Given the description of an element on the screen output the (x, y) to click on. 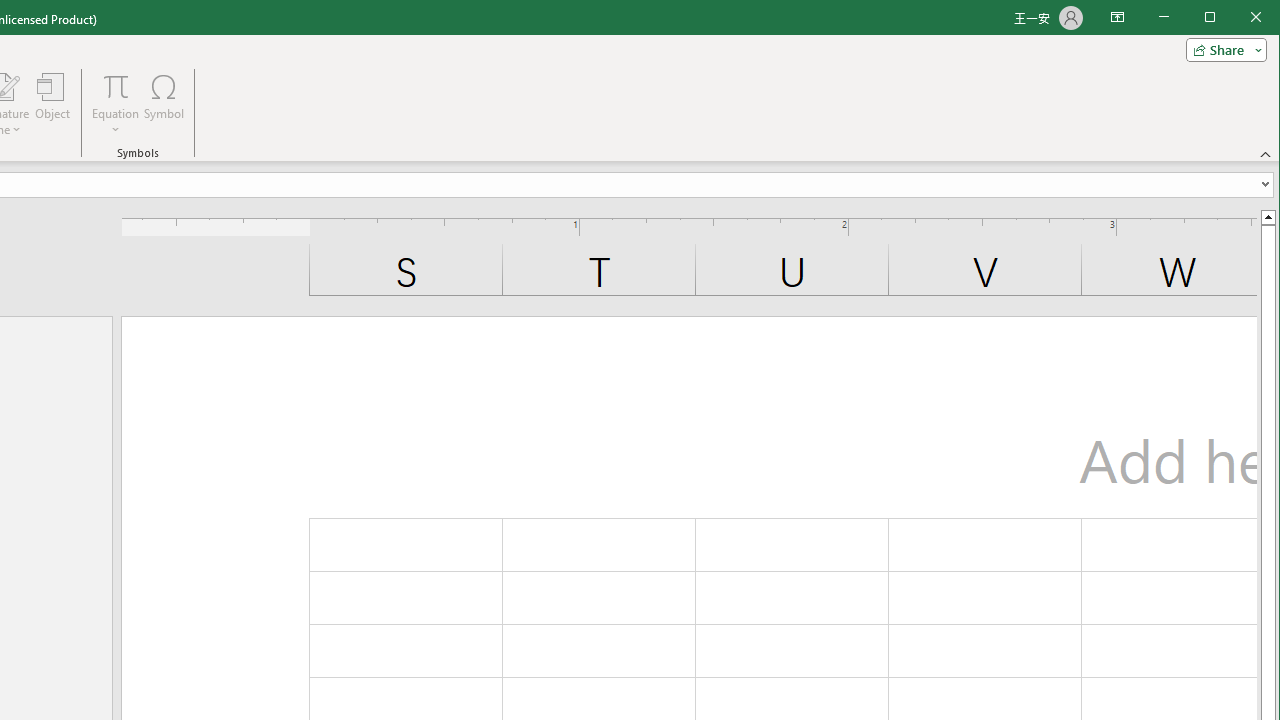
Collapse the Ribbon (1266, 154)
Maximize (1238, 18)
More Options (115, 123)
Ribbon Display Options (1117, 17)
Equation (115, 86)
Share (1222, 49)
Close (1261, 18)
Equation (115, 104)
Symbol... (164, 104)
Line up (1268, 216)
Minimize (1216, 18)
Object... (53, 104)
